Given the description of an element on the screen output the (x, y) to click on. 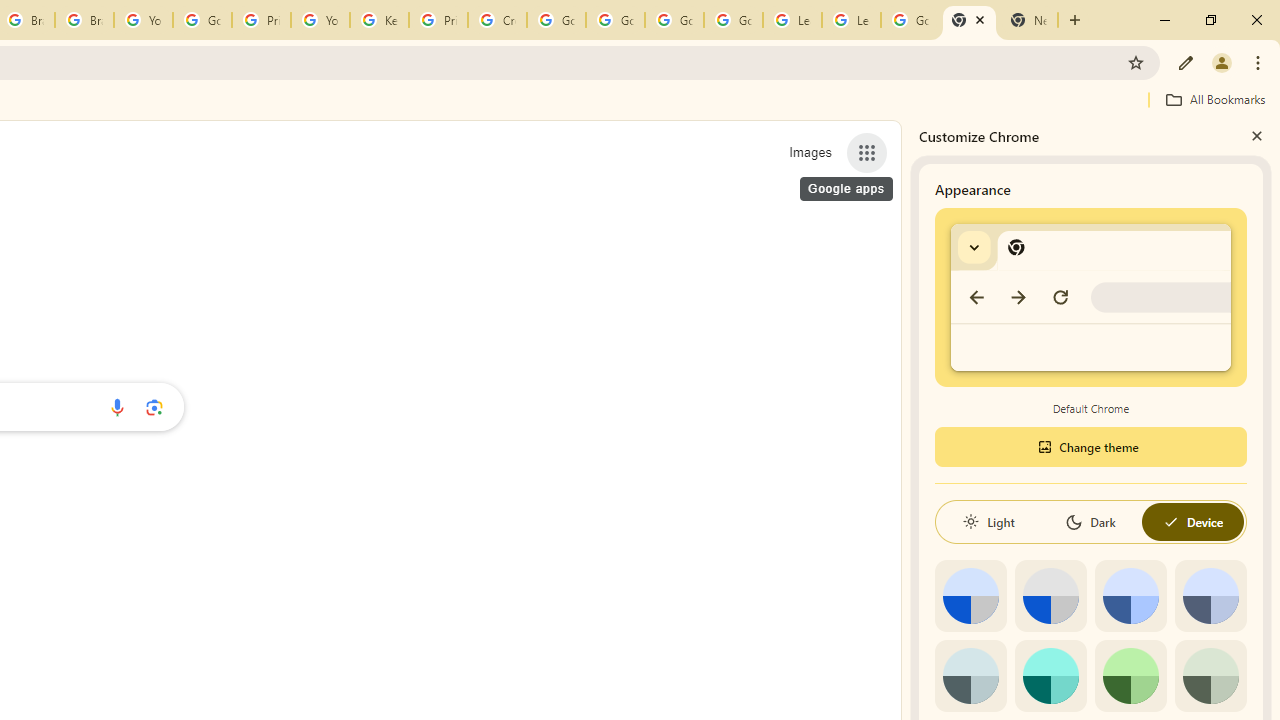
Device (1192, 521)
Search by image (153, 407)
Google Account Help (615, 20)
Google Account Help (733, 20)
New Tab (969, 20)
New Tab (1028, 20)
Customize Chrome (1185, 62)
Green (1130, 676)
Search by voice (116, 407)
YouTube (319, 20)
All Bookmarks (1215, 99)
